Given the description of an element on the screen output the (x, y) to click on. 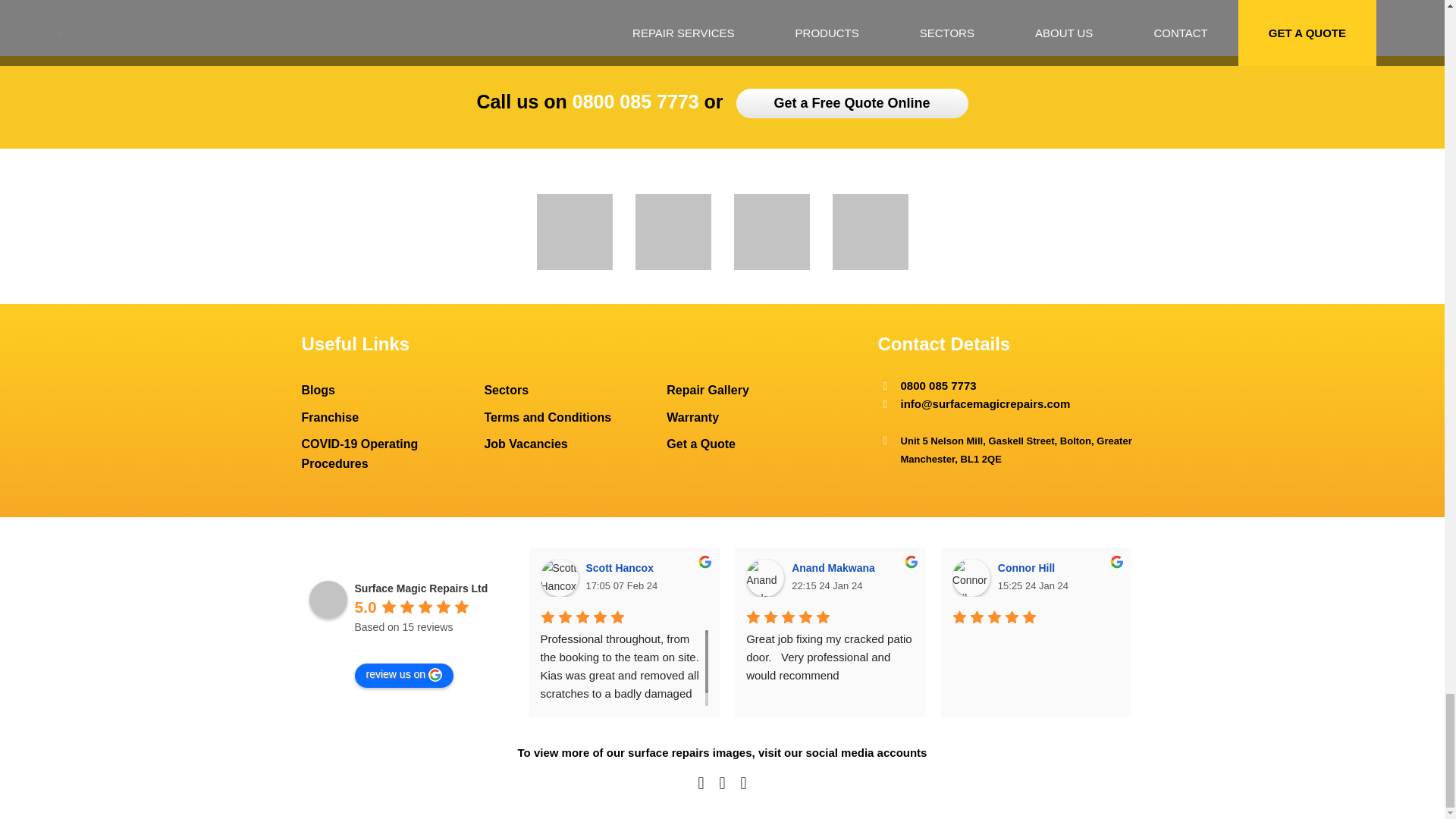
Terms and Conditions (574, 417)
Connor Hill (971, 577)
Surface Magic Repairs Ltd (327, 599)
Robert Wasson (1383, 577)
Anand Makwana (764, 577)
Get a Free Quote Online (852, 102)
0800 085 7773 (635, 101)
Blogs (392, 390)
Carl Kelly (1176, 577)
